Given the description of an element on the screen output the (x, y) to click on. 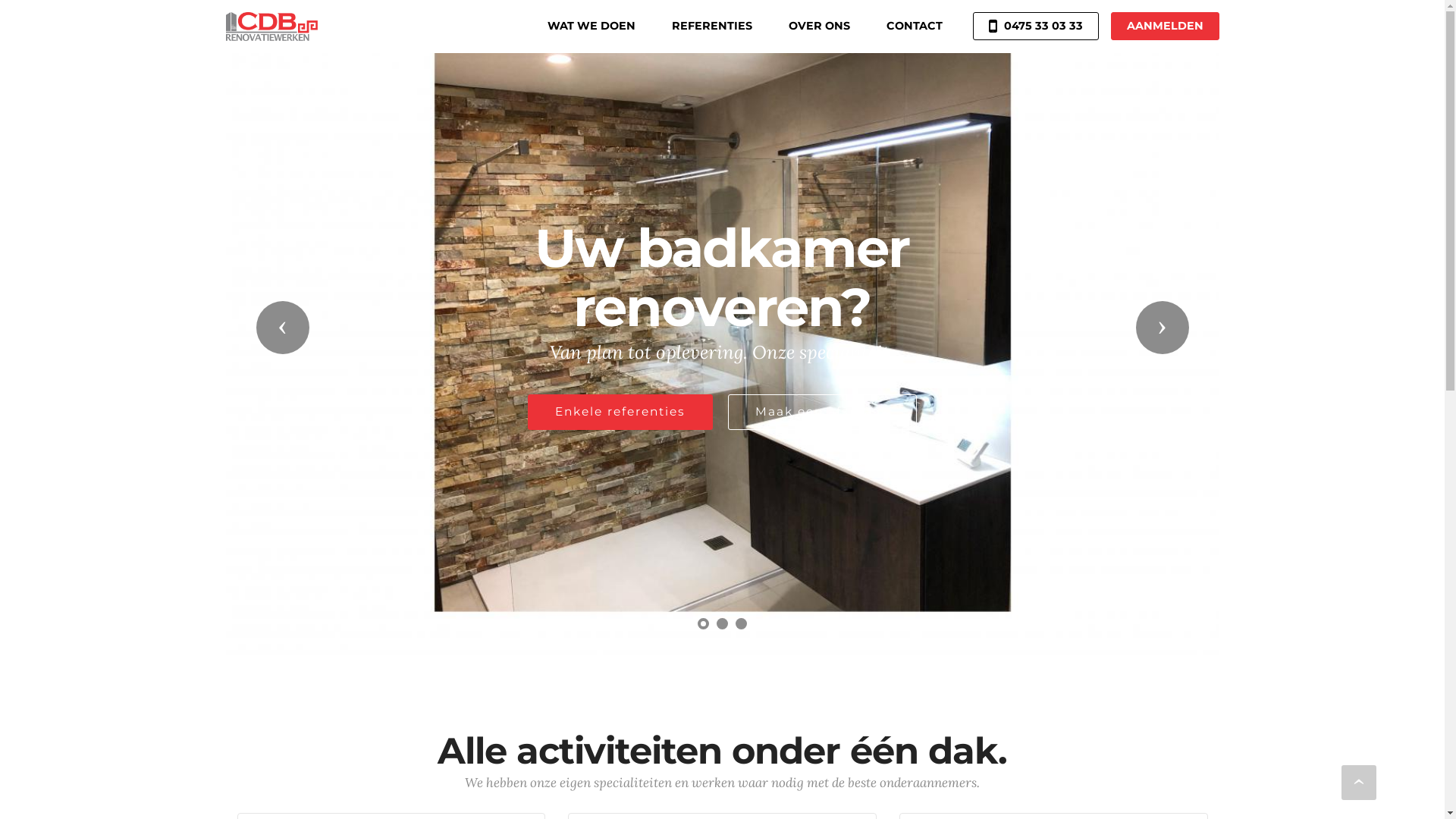
0475 33 03 33 Element type: text (1035, 26)
Skip to main content Element type: text (0, 0)
AANMELDEN Element type: text (1164, 26)
WAT WE DOEN Element type: text (591, 26)
CONTACT Element type: text (914, 26)
Next Element type: text (1162, 327)
REFERENTIES Element type: text (711, 26)
Enkele referenties Element type: text (619, 411)
OVER ONS Element type: text (819, 26)
Maak een afspraak Element type: text (822, 411)
Previous Element type: text (282, 327)
